Given the description of an element on the screen output the (x, y) to click on. 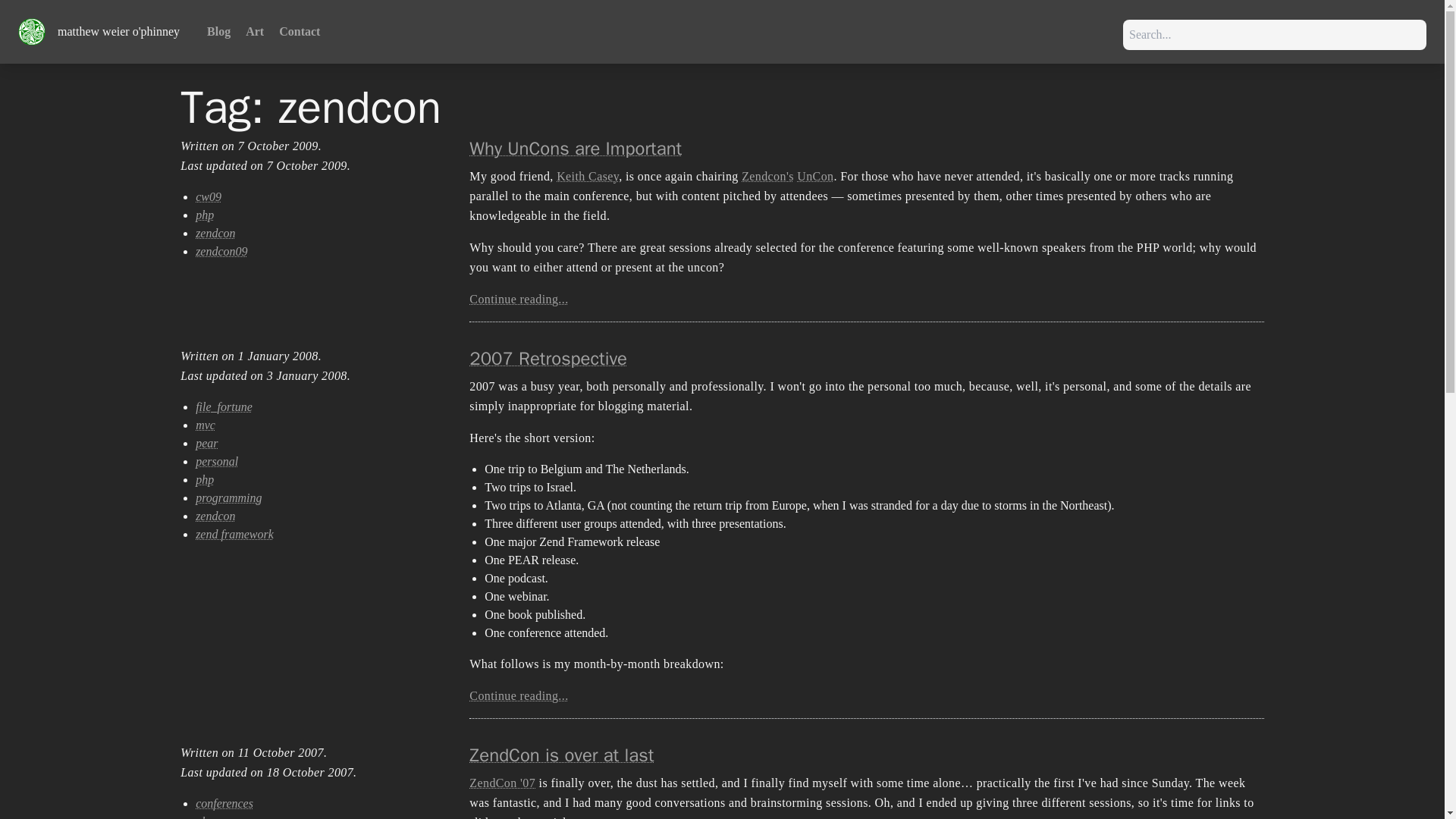
zendcon (214, 515)
Continue reading... (517, 695)
Why UnCons are Important (574, 148)
php (204, 479)
2007 Retrospective (547, 358)
mvc (205, 424)
pear (205, 442)
zend framework (234, 533)
ZendCon '07 (501, 782)
ZendCon is over at last (560, 754)
zendcon (214, 232)
personal (216, 461)
Zendcon's (767, 175)
Continue reading... (517, 298)
Blog (217, 31)
